Given the description of an element on the screen output the (x, y) to click on. 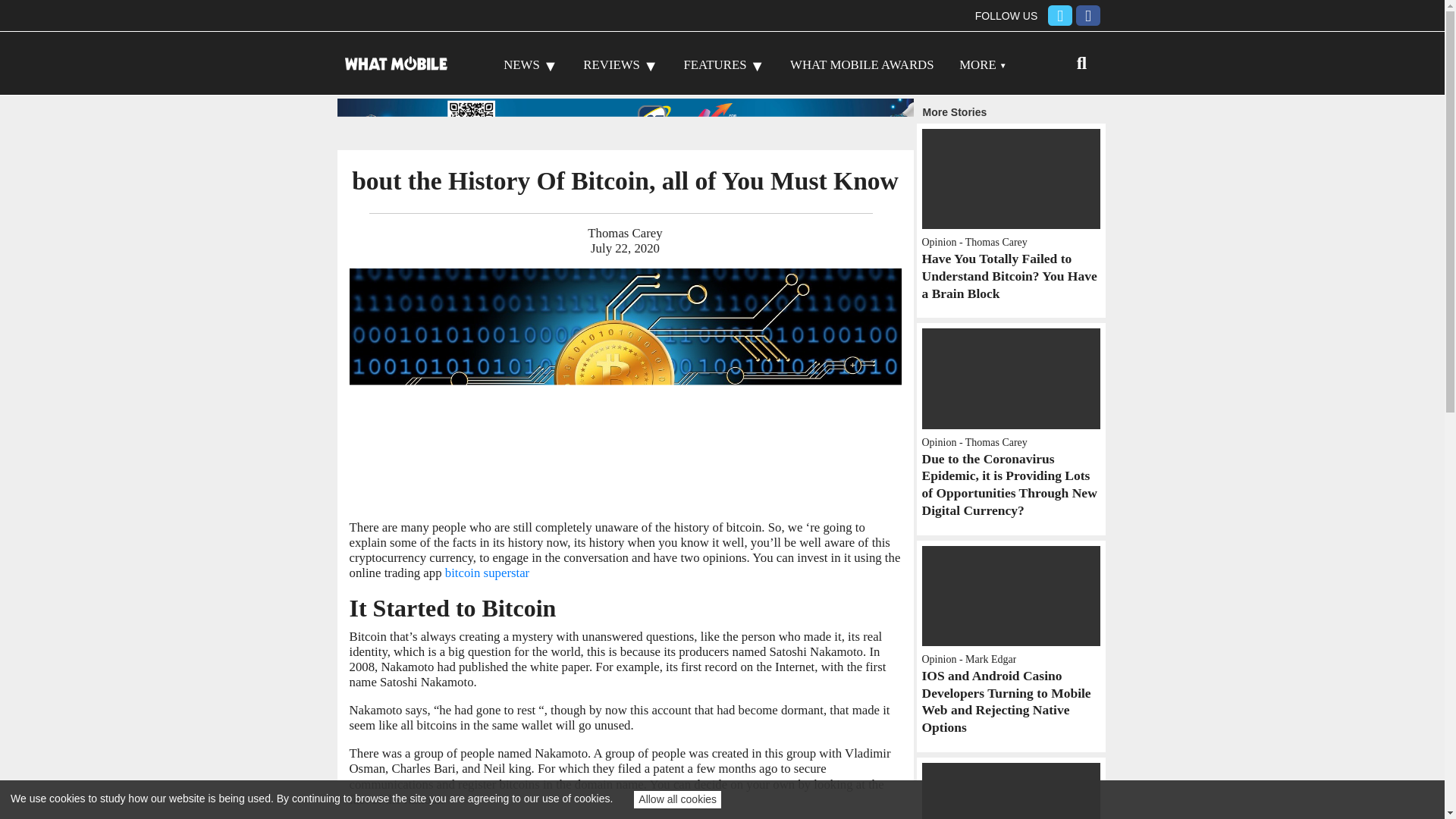
WHAT MOBILE AWARDS (861, 64)
